Given the description of an element on the screen output the (x, y) to click on. 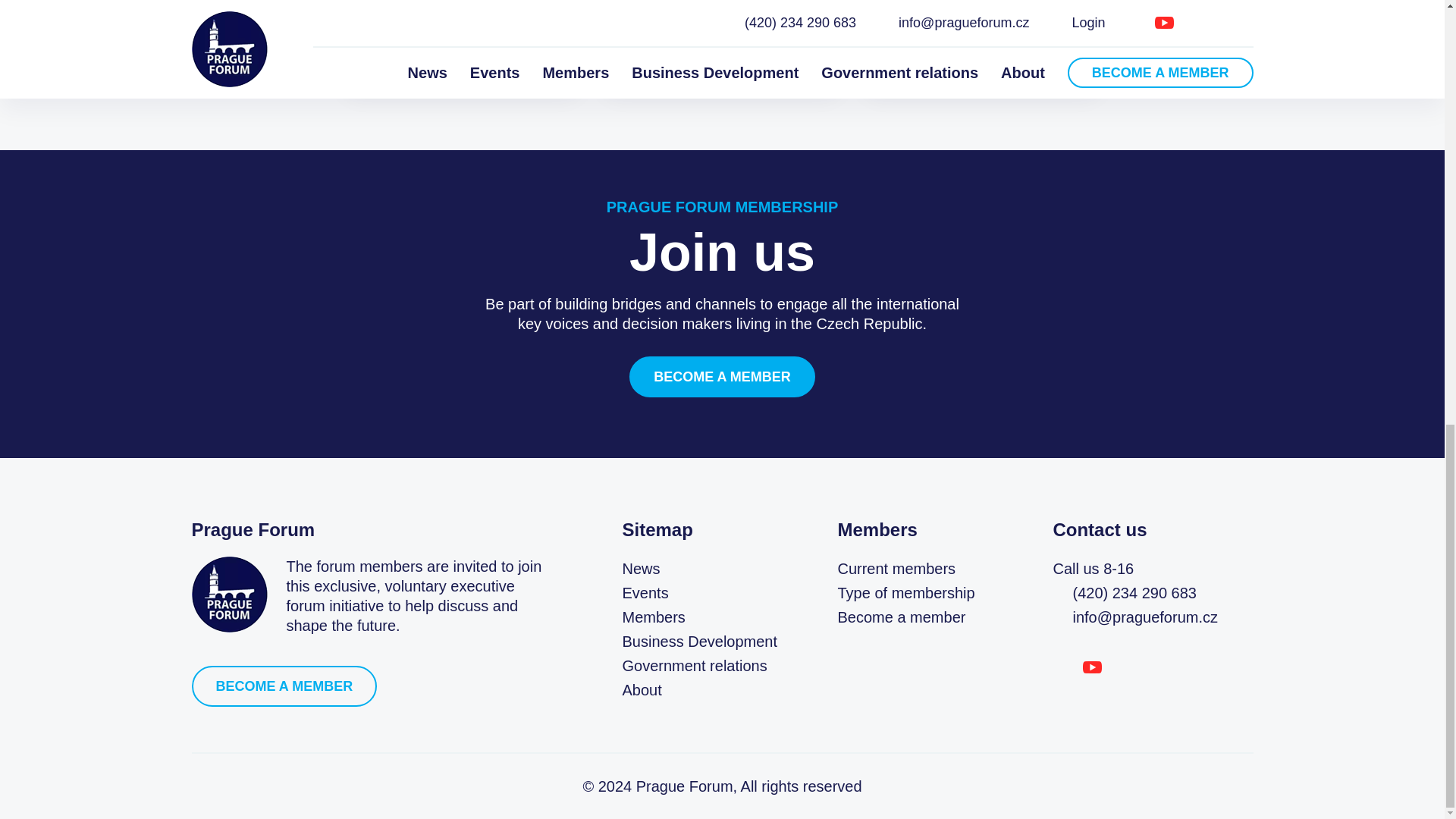
Type of membership (905, 592)
Business Development (699, 641)
Members (652, 617)
Government relations (694, 665)
Prague Forum (228, 594)
Current members (896, 568)
Become a member (901, 617)
About (641, 689)
News (640, 568)
Call us 8-16 (1141, 568)
BECOME A MEMBER (721, 376)
BECOME A MEMBER (283, 685)
Events (644, 592)
